Given the description of an element on the screen output the (x, y) to click on. 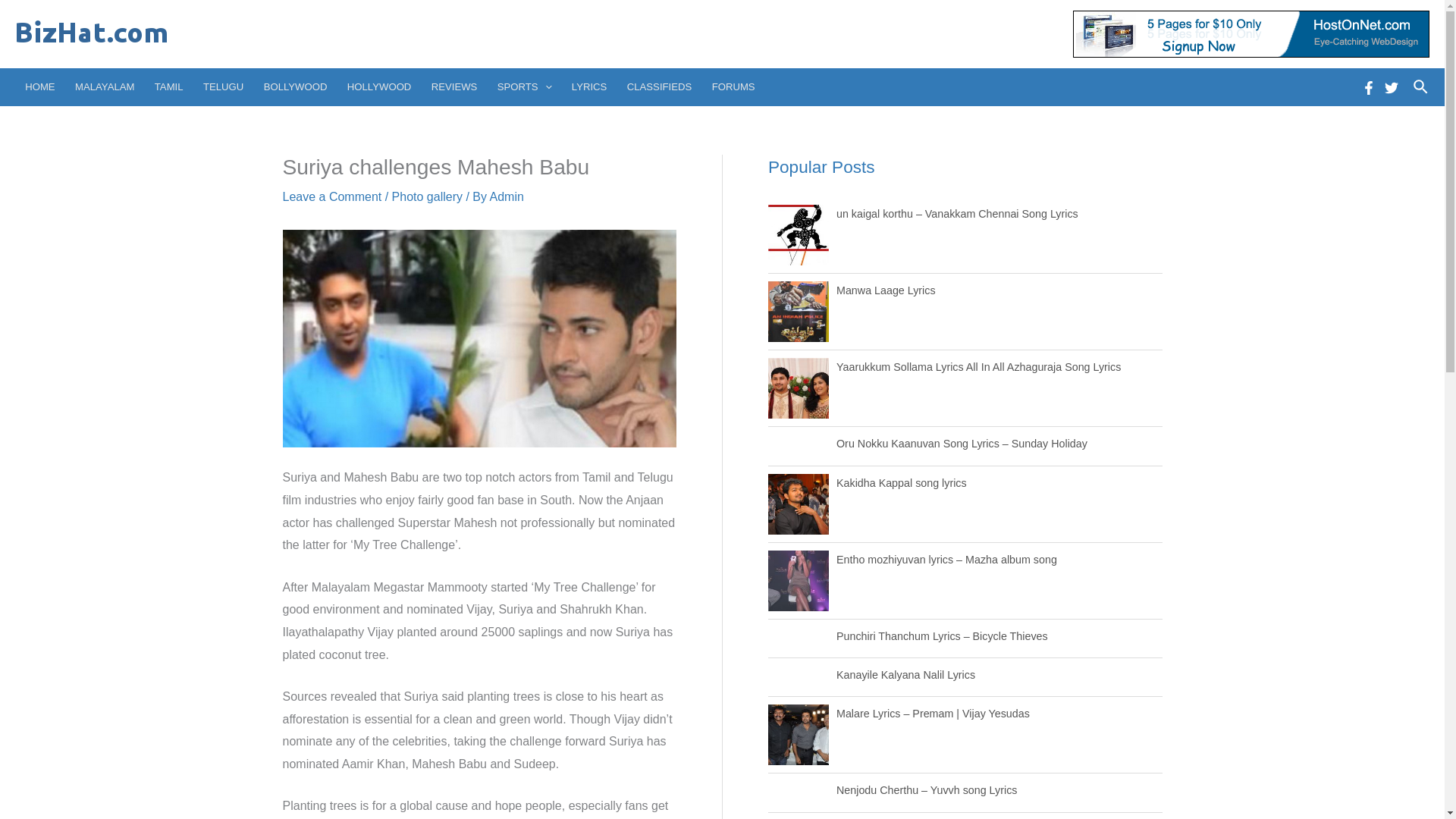
FORUMS (732, 86)
HOME (39, 86)
LYRICS (589, 86)
SPORTS (524, 86)
REVIEWS (454, 86)
MALAYALAM (104, 86)
CLASSIFIEDS (659, 86)
View all posts by Admin (506, 196)
HOLLYWOOD (379, 86)
TELUGU (223, 86)
TAMIL (168, 86)
BOLLYWOOD (294, 86)
